Given the description of an element on the screen output the (x, y) to click on. 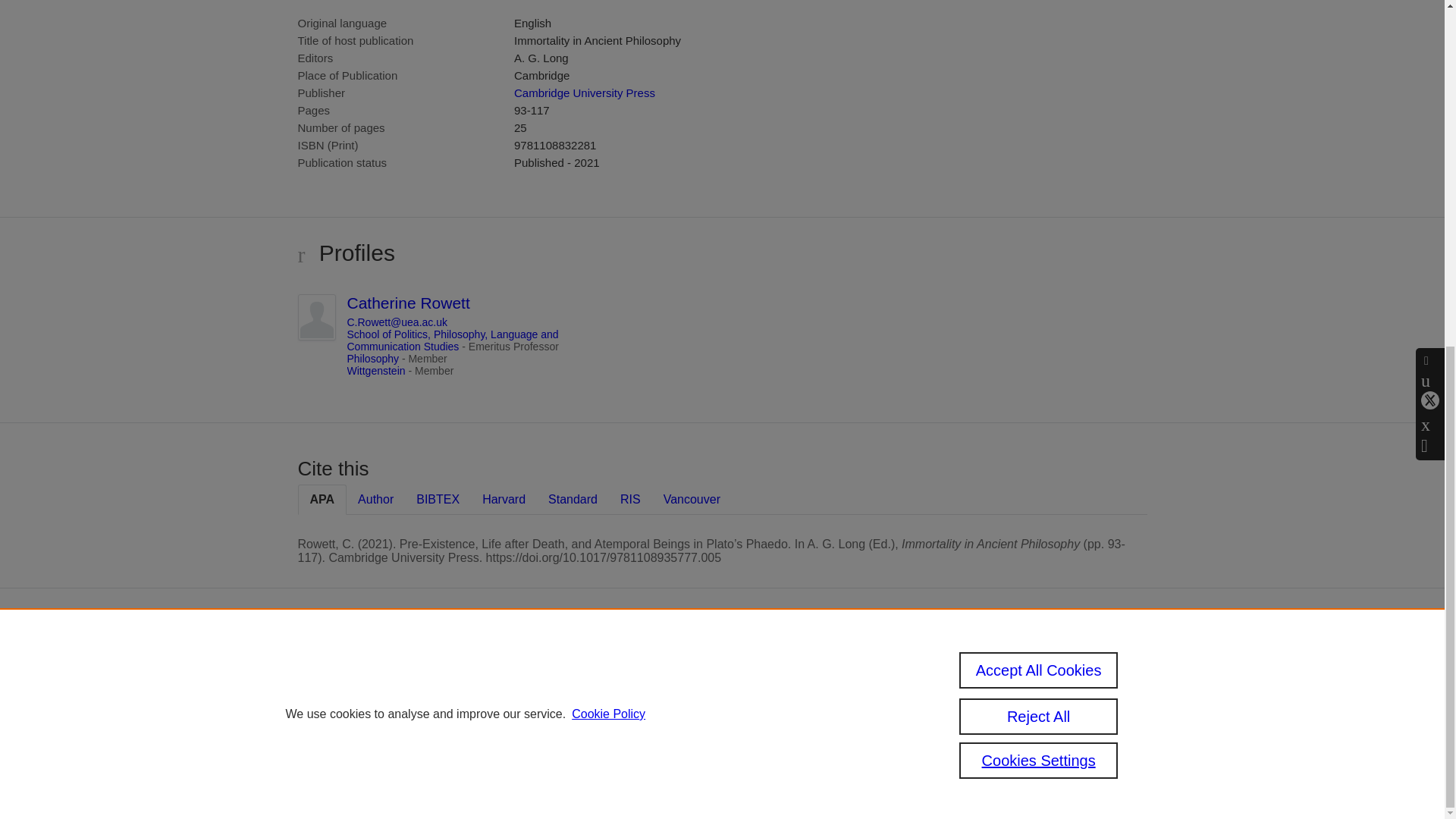
use of cookies (660, 738)
Philosophy (372, 358)
Catherine Rowett (408, 303)
Cambridge University Press (584, 92)
Pure (620, 663)
Scopus (652, 663)
Elsevier B.V. (764, 684)
Cookies Settings (591, 759)
Wittgenstein (376, 370)
